Given the description of an element on the screen output the (x, y) to click on. 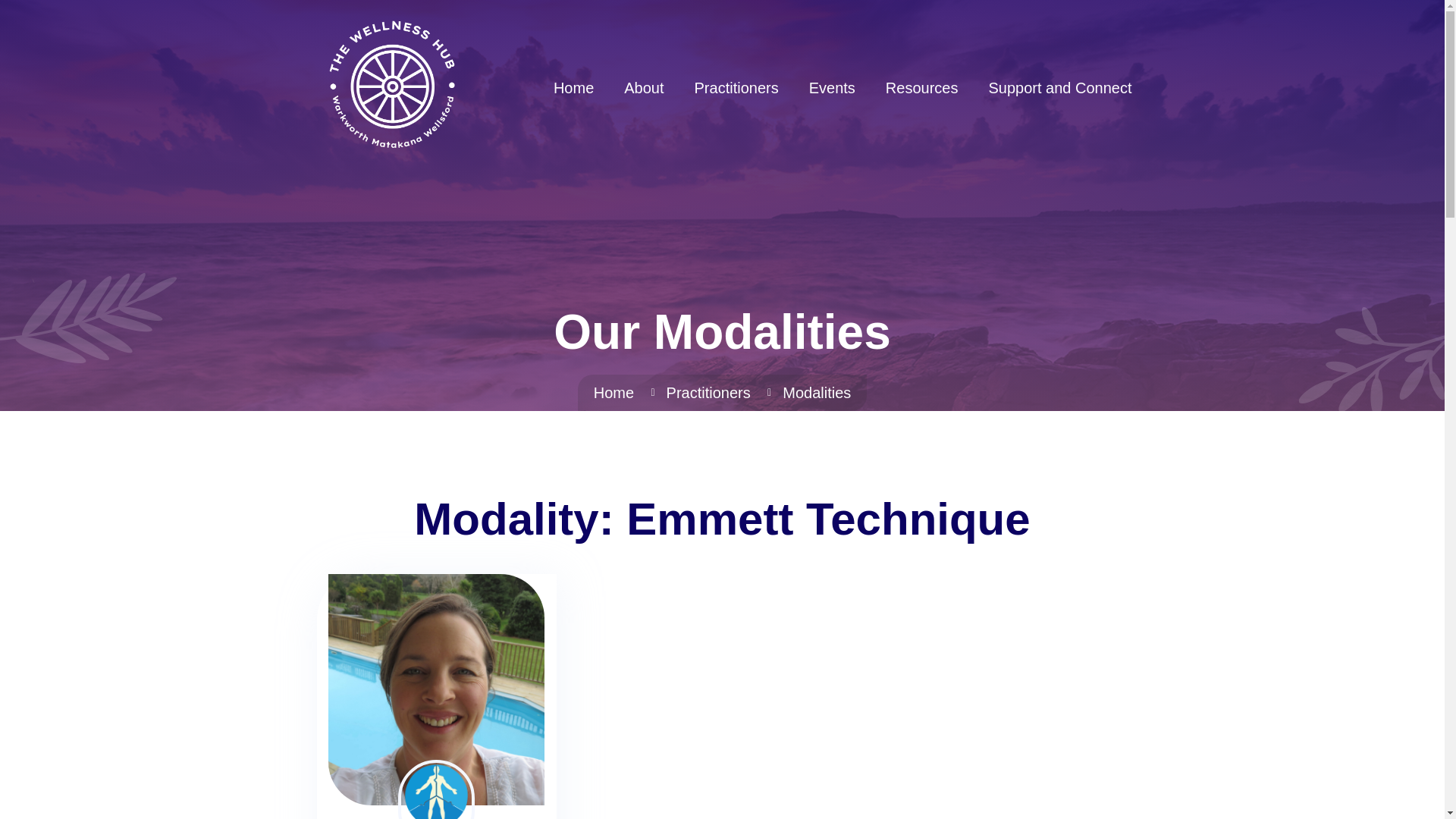
Practitioners (736, 87)
Home (613, 392)
Events (831, 87)
Modalities (816, 392)
Practitioners (708, 392)
About (643, 87)
Home (573, 87)
Resources (922, 87)
Support and Connect (1059, 87)
